Given the description of an element on the screen output the (x, y) to click on. 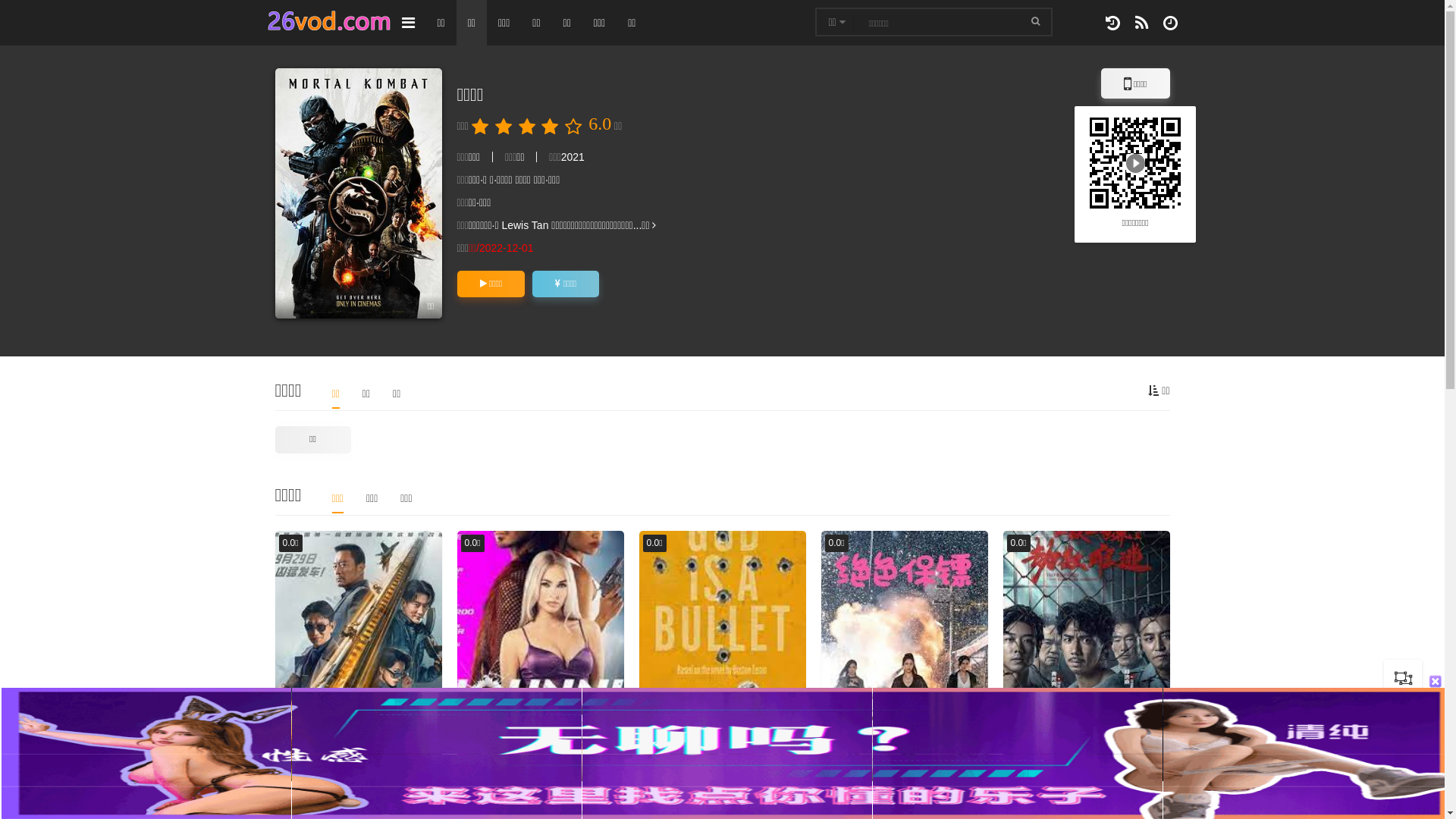
2021 Element type: text (572, 156)
http://26vod.com/vod/Y44m.html Element type: hover (1134, 161)
